Given the description of an element on the screen output the (x, y) to click on. 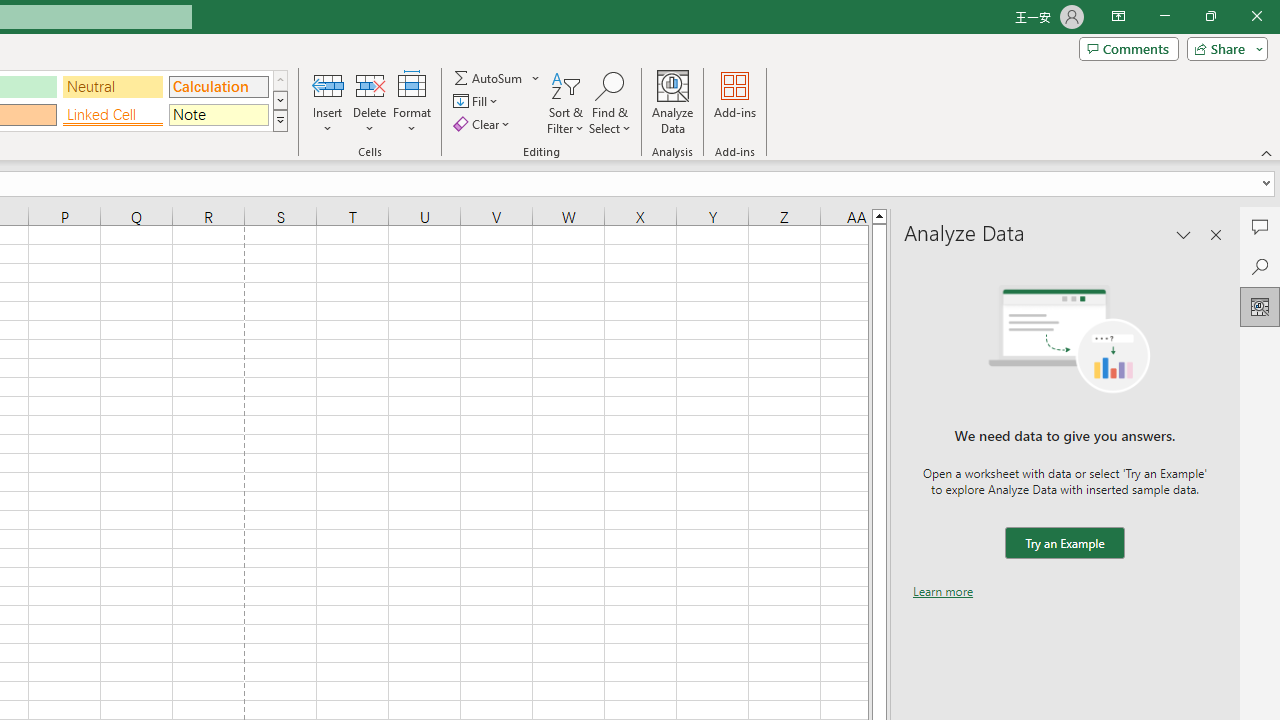
Linked Cell (113, 114)
Find & Select (610, 102)
Format (411, 102)
Neutral (113, 86)
Sort & Filter (566, 102)
AutoSum (497, 78)
